Given the description of an element on the screen output the (x, y) to click on. 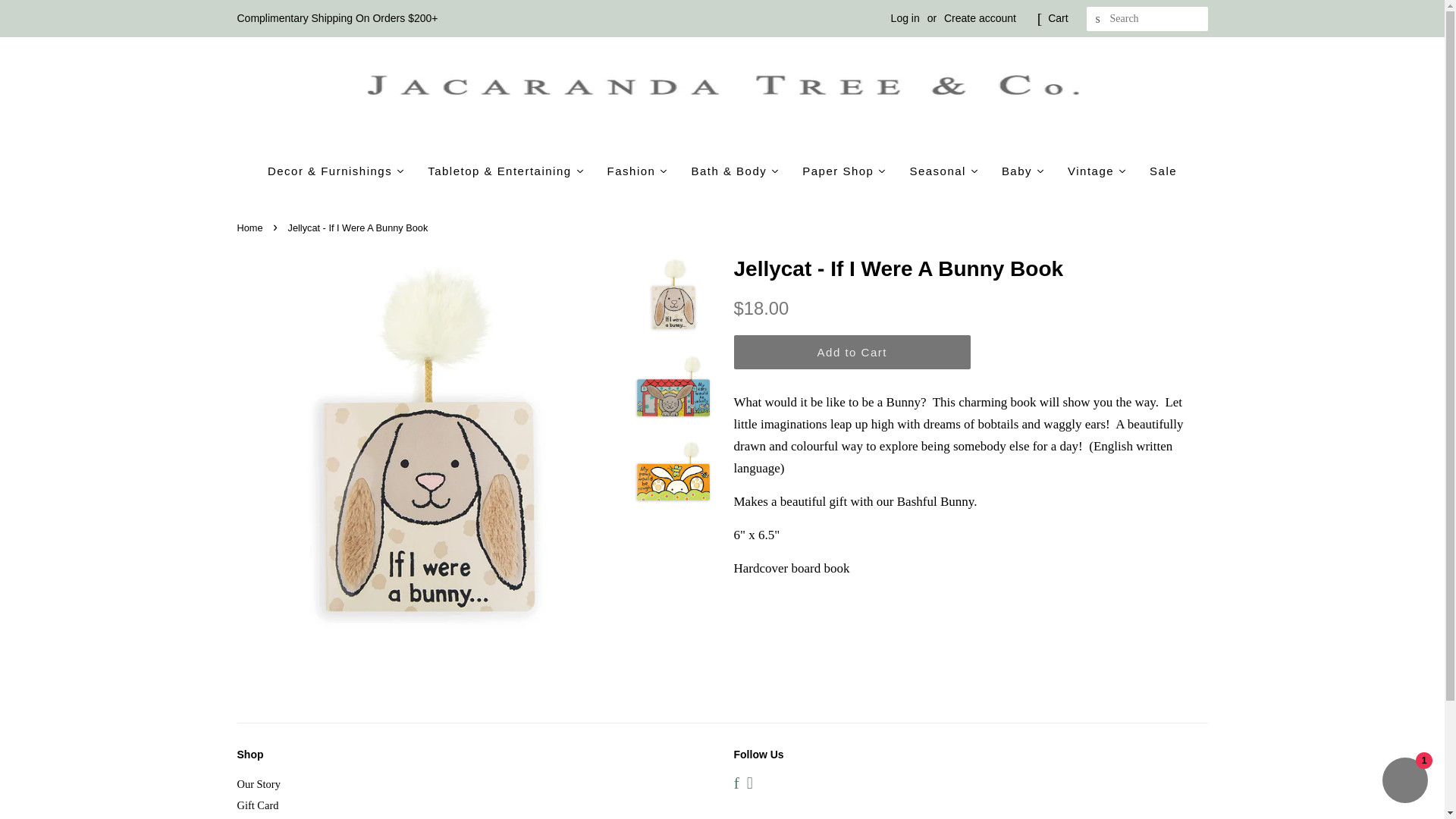
Back to the frontpage (250, 227)
Seasonal (944, 170)
Cart (1057, 18)
Create account (979, 18)
Log in (905, 18)
Vintage (1097, 170)
Baby (1023, 170)
Paper Shop (844, 170)
Search (1097, 18)
Fashion (637, 170)
Sale (1163, 170)
